Given the description of an element on the screen output the (x, y) to click on. 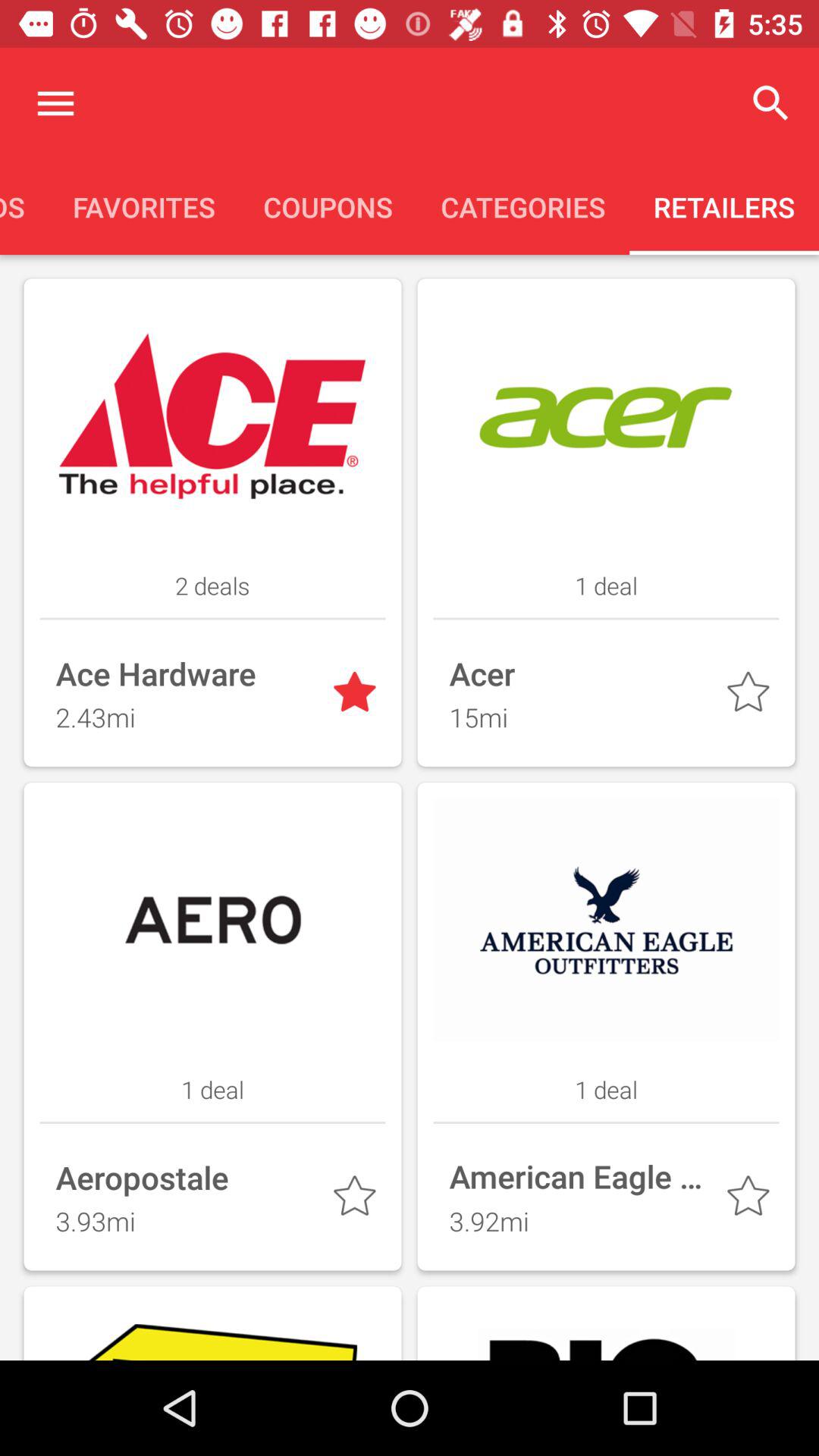
button to mark retailer as favorite (357, 1199)
